Given the description of an element on the screen output the (x, y) to click on. 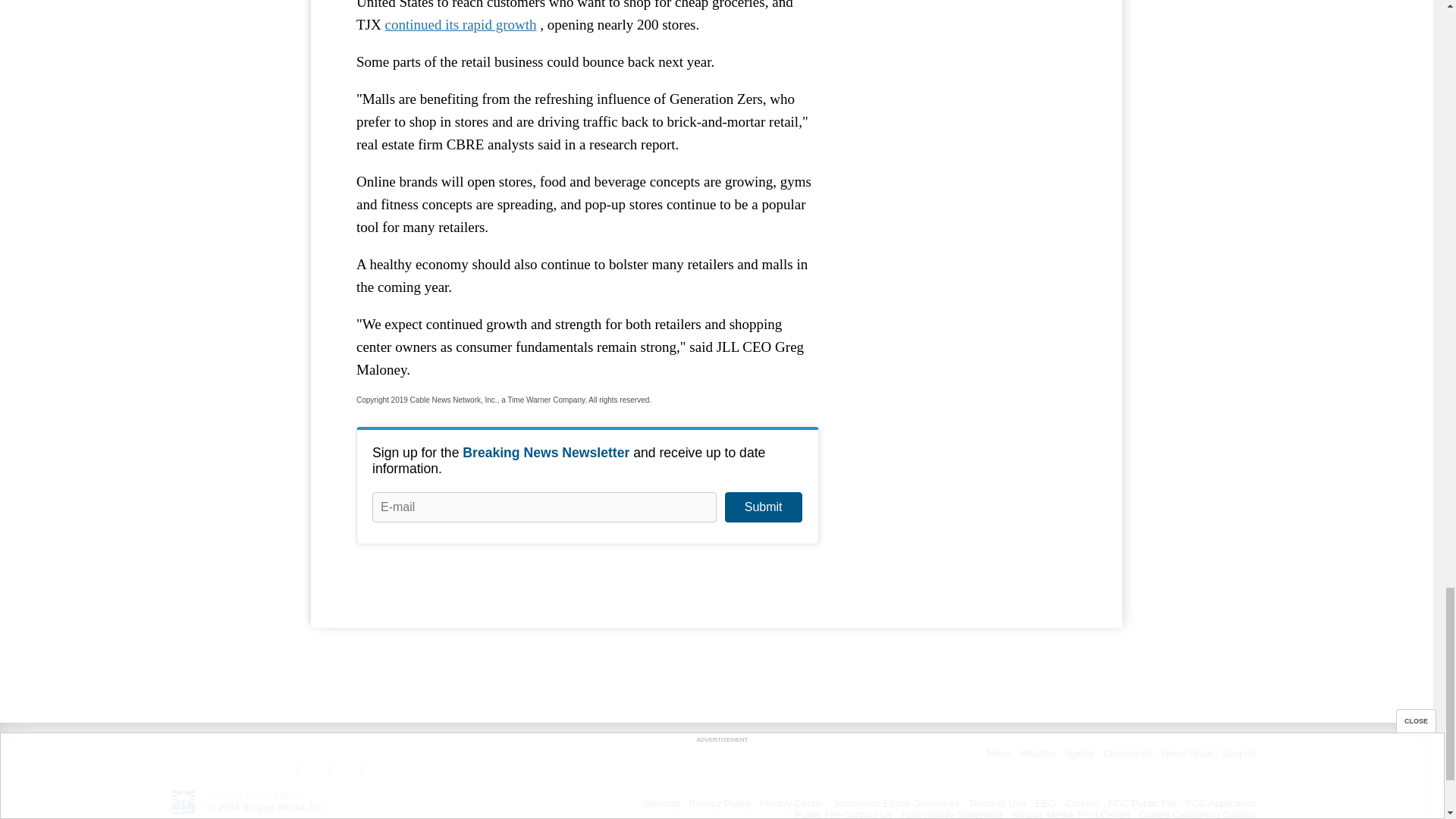
Submit (763, 507)
